Given the description of an element on the screen output the (x, y) to click on. 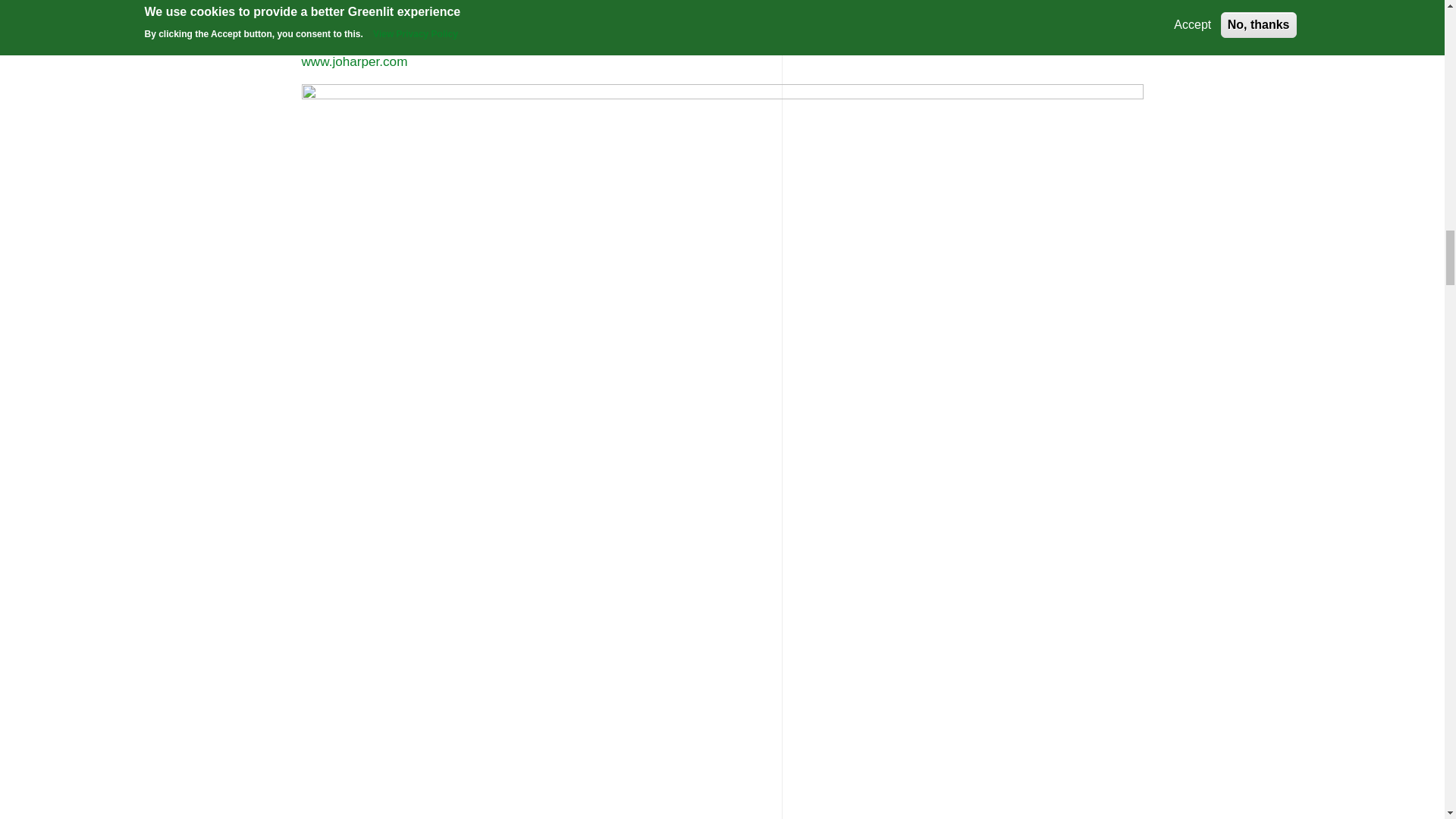
www.joharper.com (354, 61)
